Given the description of an element on the screen output the (x, y) to click on. 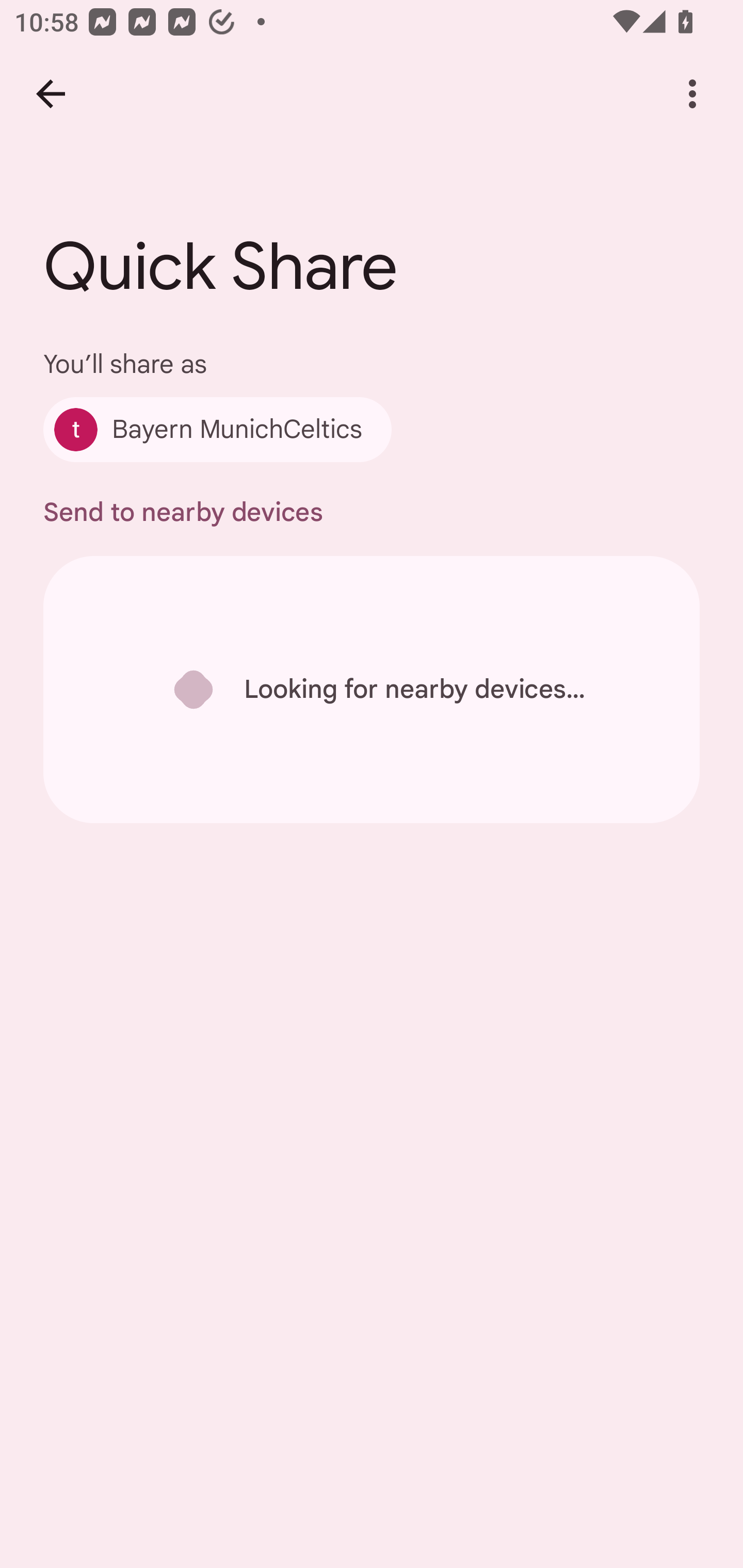
Back (50, 93)
More (692, 93)
Bayern MunichCeltics (217, 429)
